Given the description of an element on the screen output the (x, y) to click on. 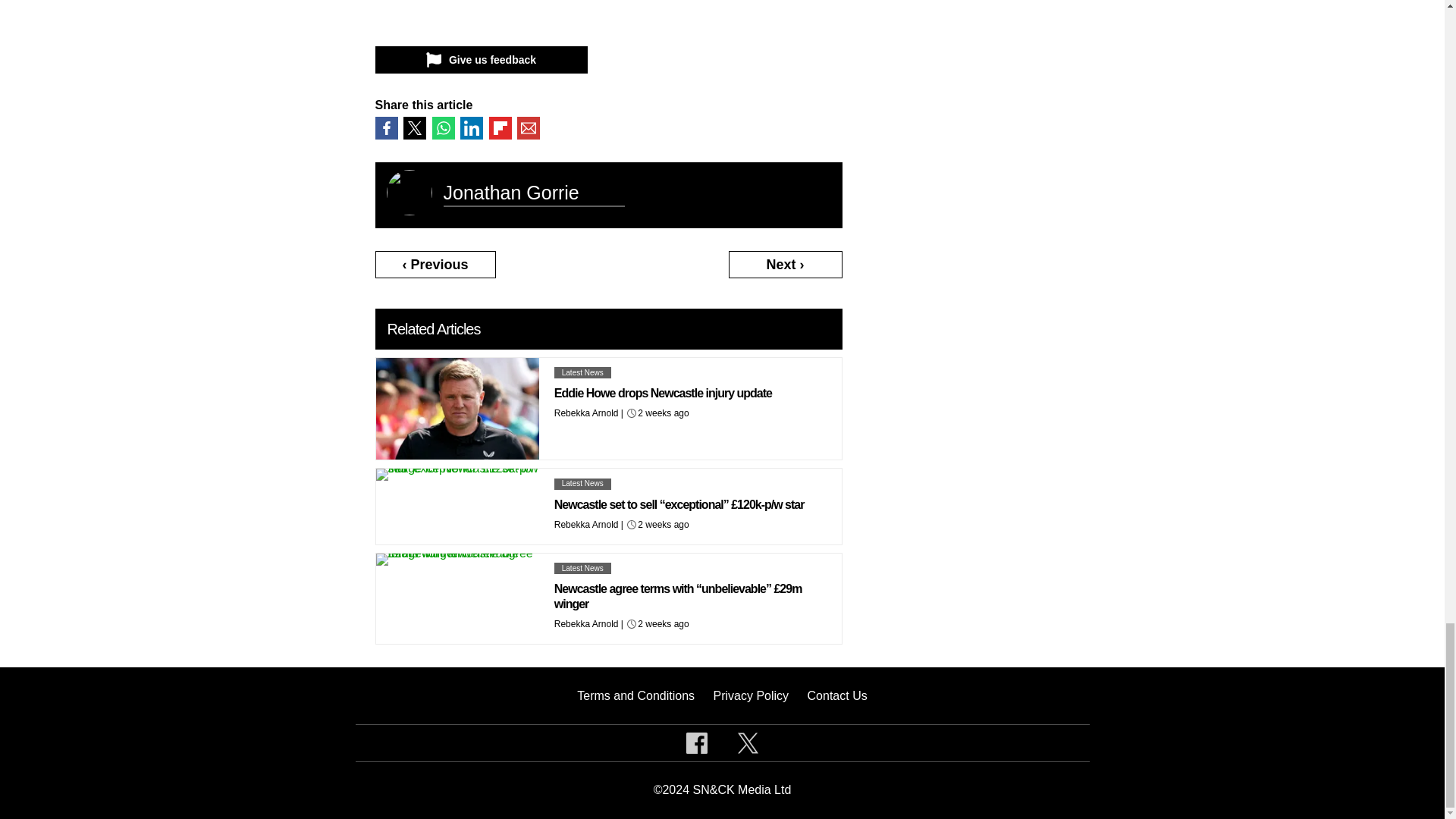
share on Facebook (385, 128)
Give us feedback (480, 59)
share on LinkedIn (471, 128)
share on Twitter (414, 128)
share on WhatsApp (443, 128)
